Given the description of an element on the screen output the (x, y) to click on. 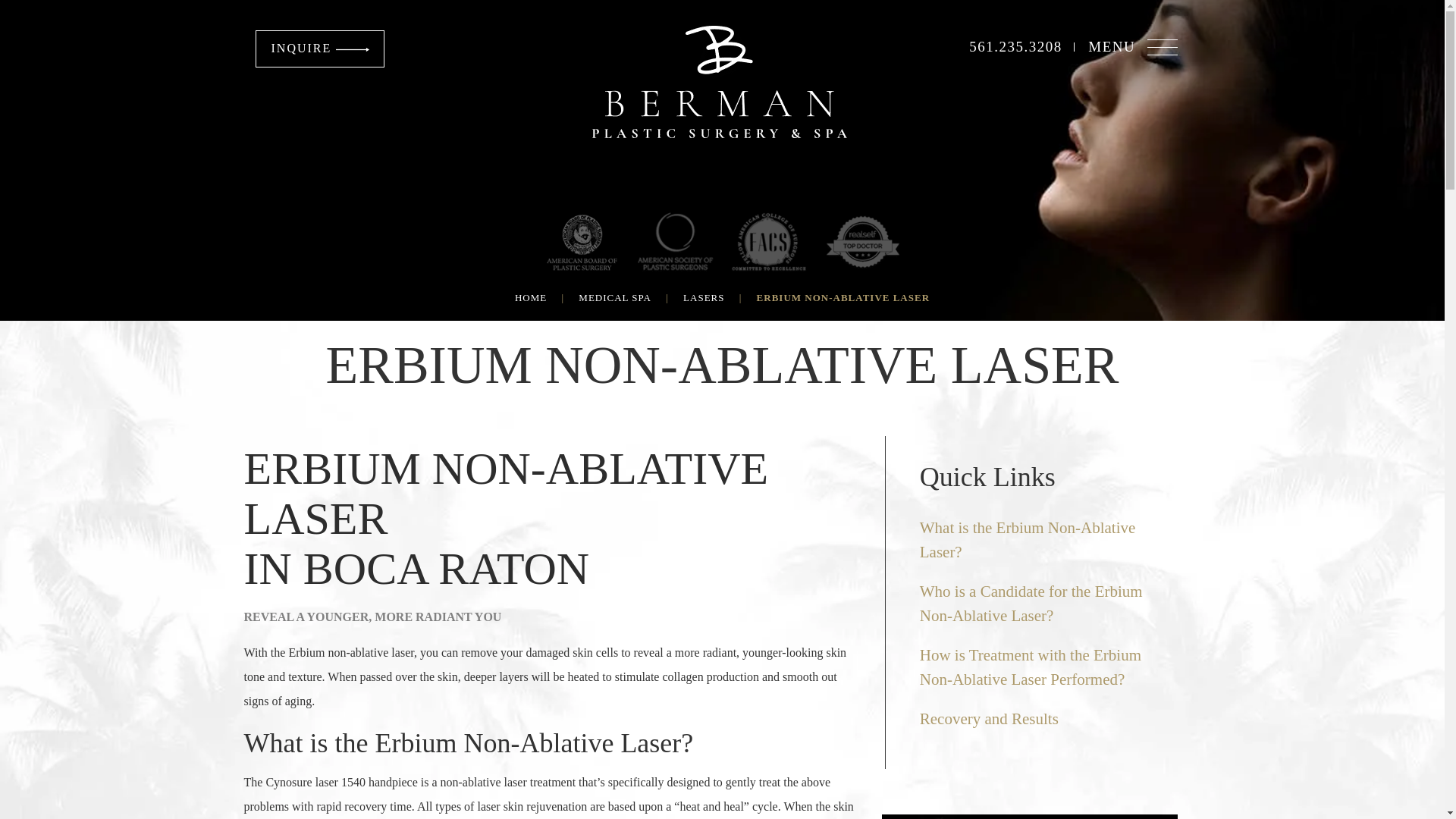
Scroll To What is the Erbium Non-Ablative Laser? (1027, 539)
What is the Erbium Non-Ablative Laser? (1040, 539)
561.235.3208 (1015, 46)
Scroll To Recovery and Results (991, 719)
INQUIRE (319, 47)
Who is a Candidate for the Erbium Non-Ablative Laser? (1040, 603)
MENU (1132, 46)
Recovery and Results (1040, 718)
